Given the description of an element on the screen output the (x, y) to click on. 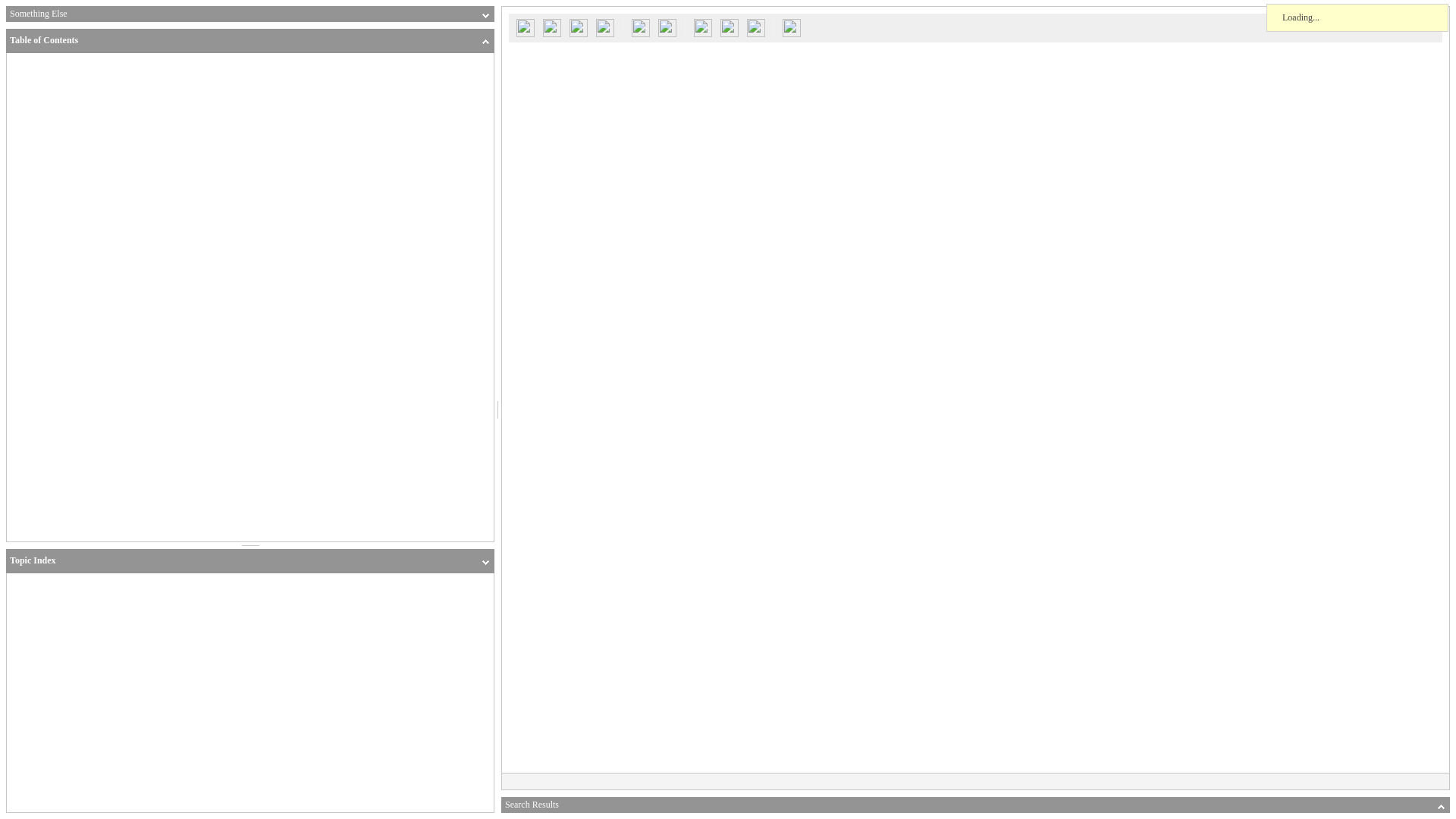
Previous Search Hit (640, 27)
Previous Document (578, 27)
Login (551, 27)
Bookmark (729, 27)
Search (525, 27)
Help (791, 27)
Next Document (604, 27)
Next Search Hit (666, 27)
Settings (755, 27)
Highlight Text (703, 27)
